Given the description of an element on the screen output the (x, y) to click on. 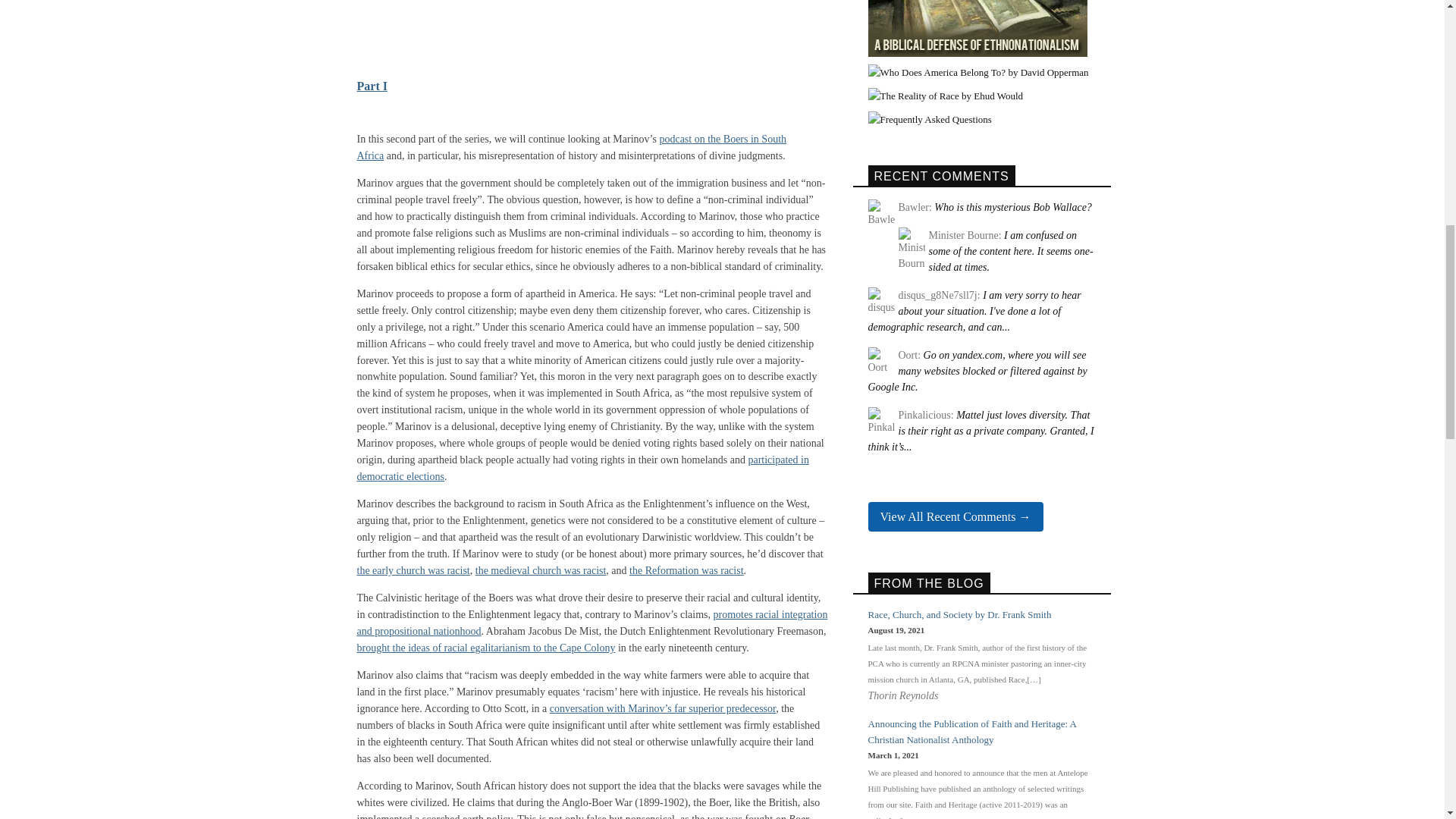
Posted on Great Places for White People to Live (973, 310)
Posted on Finis Dake on Racial Segregation (1010, 251)
Posted on The Pincer Movement of Islamo-Feminism (980, 430)
Posted on Great Places for White People to Live (976, 371)
